Given the description of an element on the screen output the (x, y) to click on. 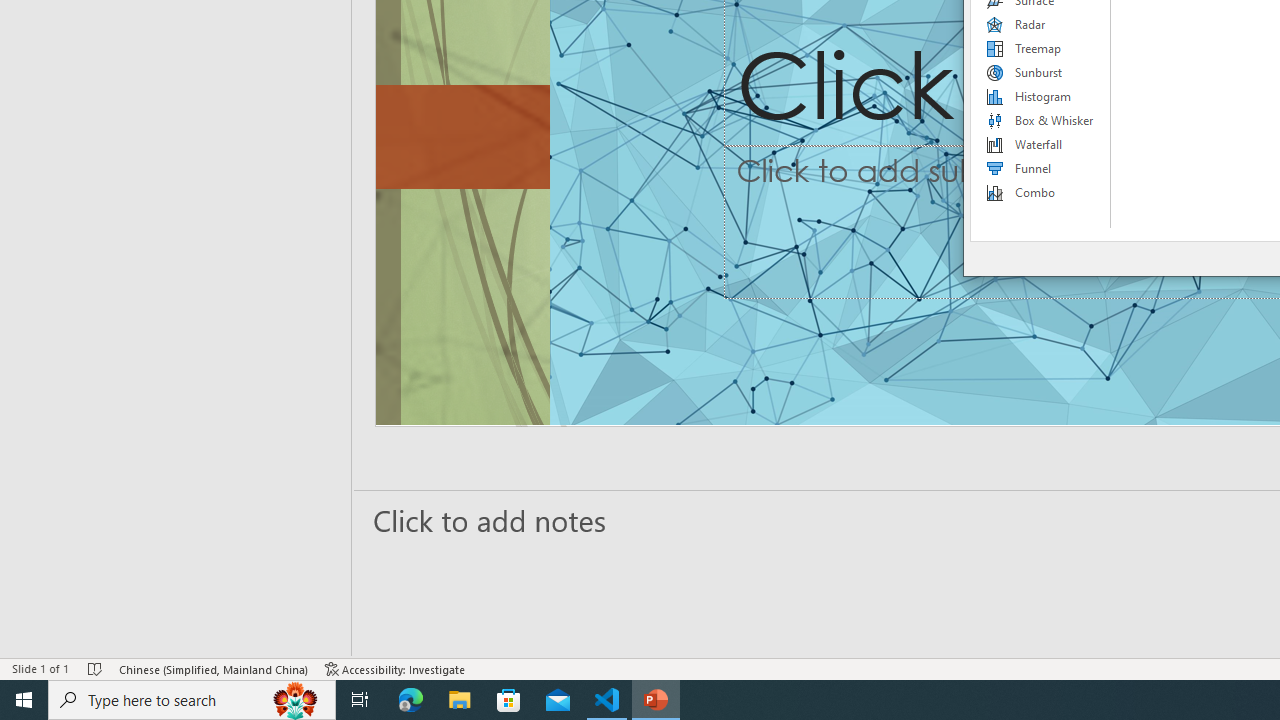
Box & Whisker (1041, 120)
Histogram (1041, 96)
Radar (1041, 24)
Funnel (1041, 168)
Sunburst (1041, 72)
